Given the description of an element on the screen output the (x, y) to click on. 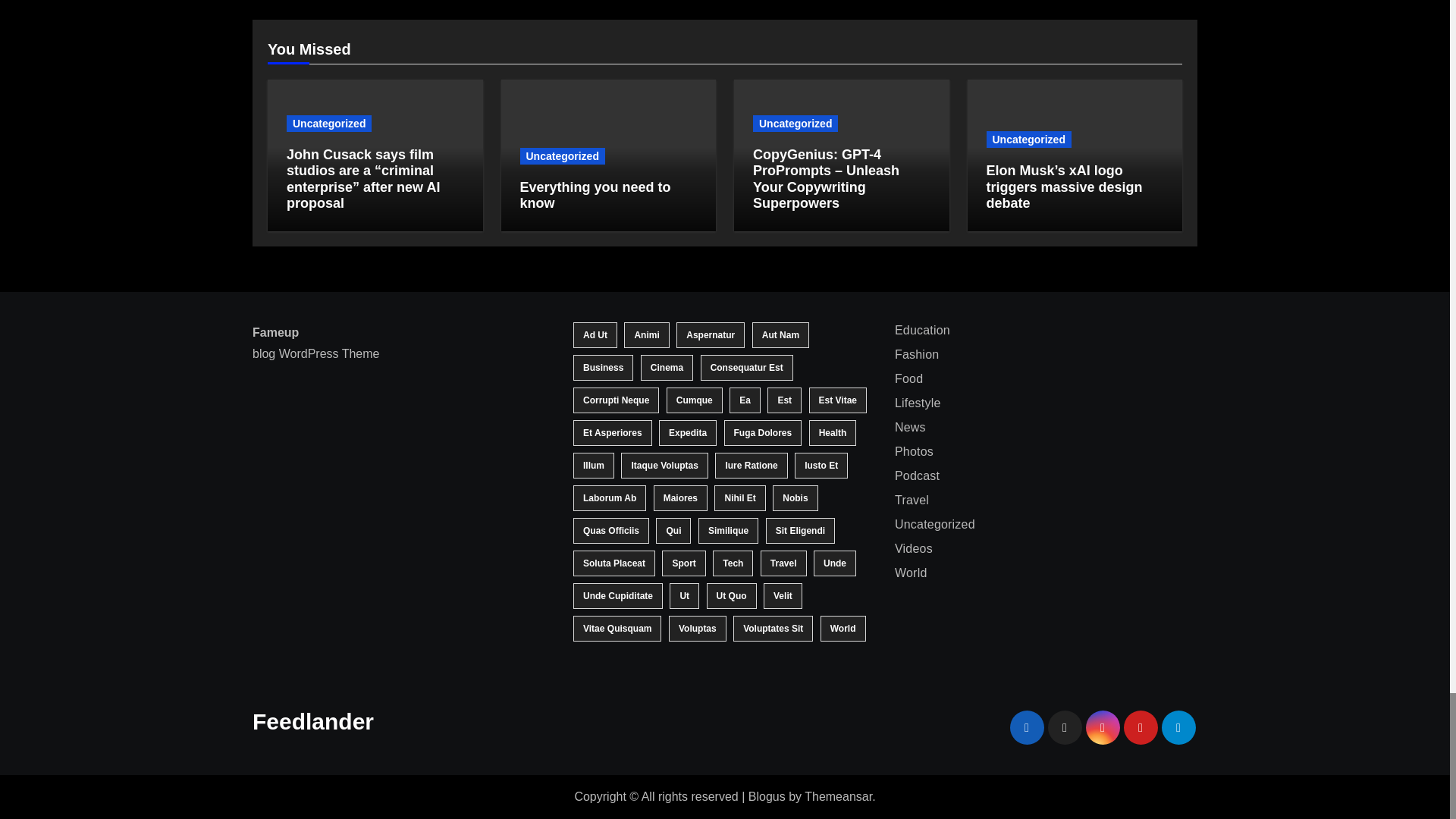
Permalink to: Everything you need to know (595, 195)
